Given the description of an element on the screen output the (x, y) to click on. 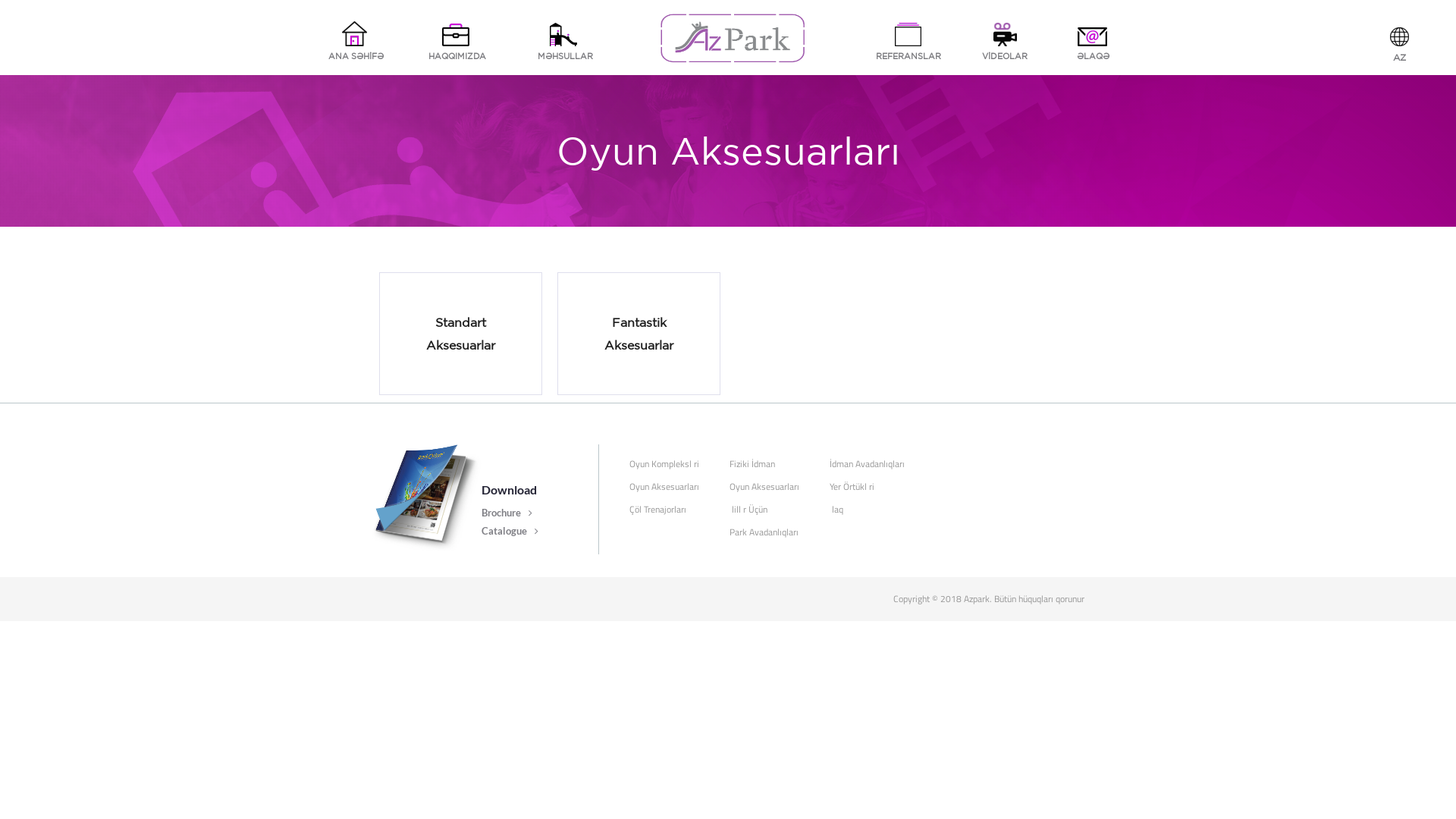
AZ Element type: text (1394, 44)
HAQQIMIZDA Element type: text (457, 41)
Brochure Element type: text (506, 511)
REFERANSLAR Element type: text (908, 41)
Catalogue Element type: text (509, 529)
